Given the description of an element on the screen output the (x, y) to click on. 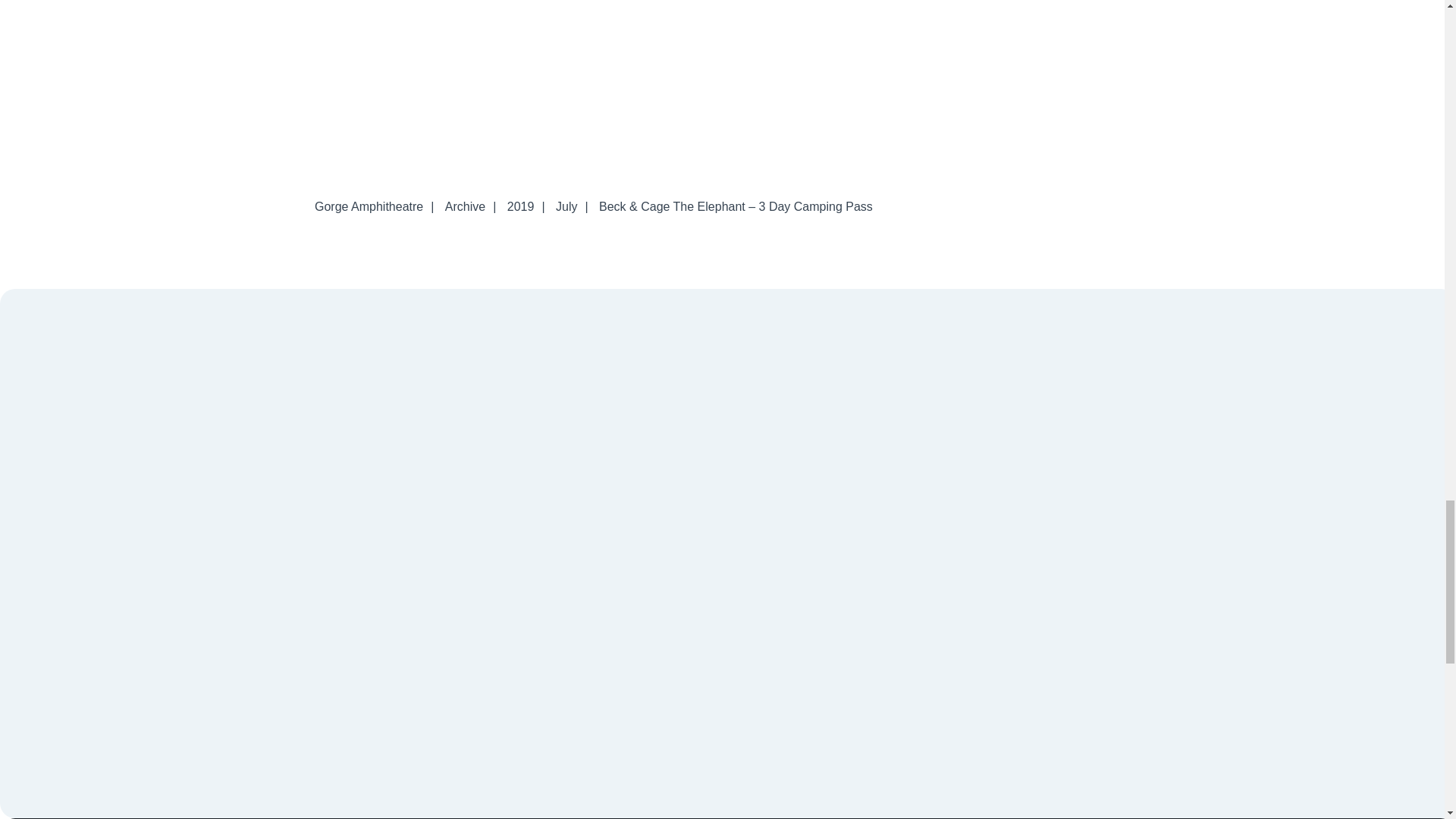
Archive (465, 205)
2019 (520, 205)
July (566, 205)
Gorge Amphitheatre (368, 205)
